Given the description of an element on the screen output the (x, y) to click on. 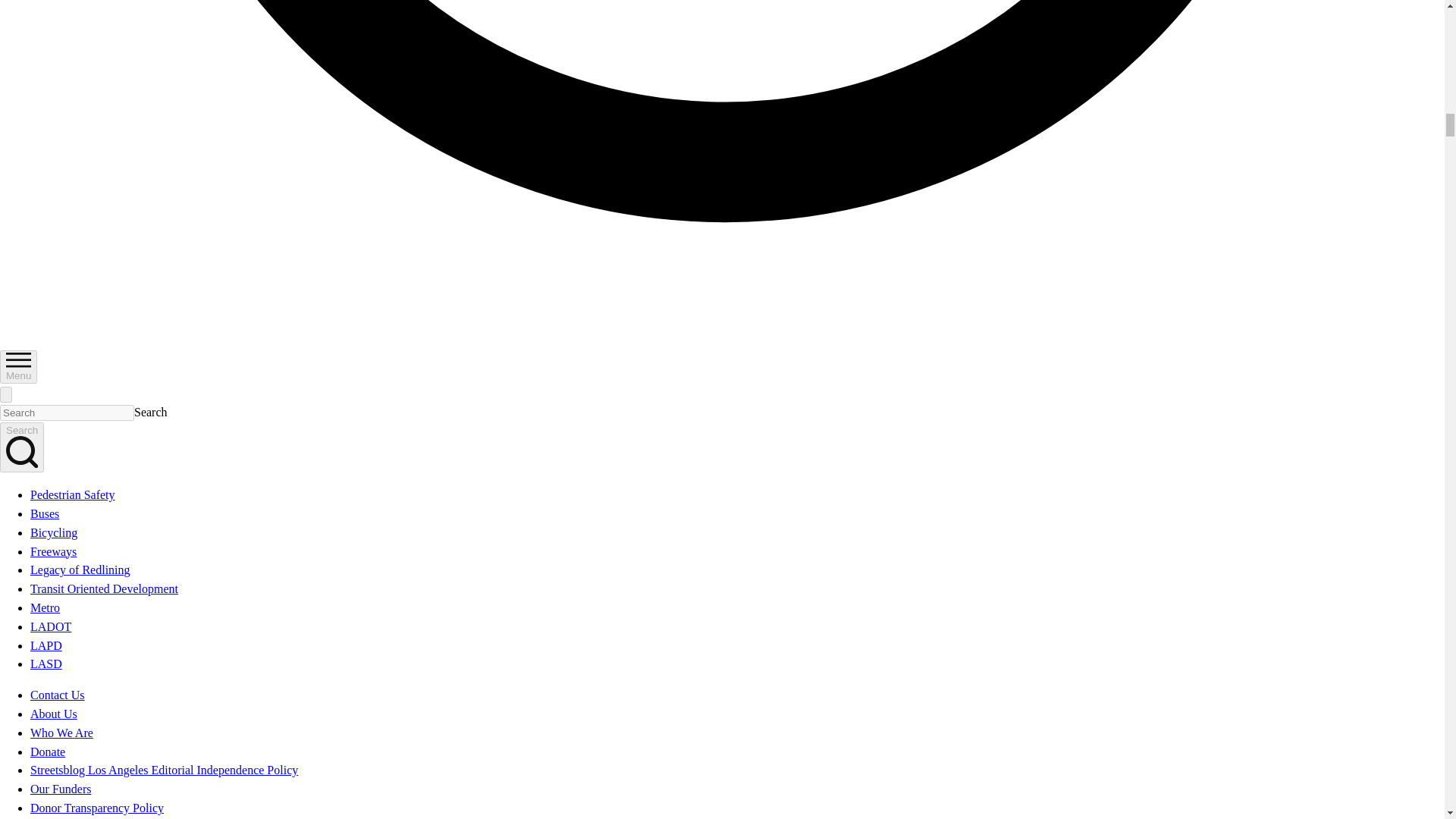
Pedestrian Safety (72, 494)
Transit Oriented Development (103, 588)
Legacy of Redlining (80, 569)
Freeways (53, 551)
Who We Are (61, 732)
LASD (46, 663)
Our Funders (60, 788)
Donor Transparency Policy (96, 807)
LAPD (46, 645)
Donate (47, 751)
Metro (44, 607)
Buses (44, 513)
Streetsblog Los Angeles Editorial Independence Policy (164, 769)
Bicycling (53, 532)
Contact Us (57, 694)
